Given the description of an element on the screen output the (x, y) to click on. 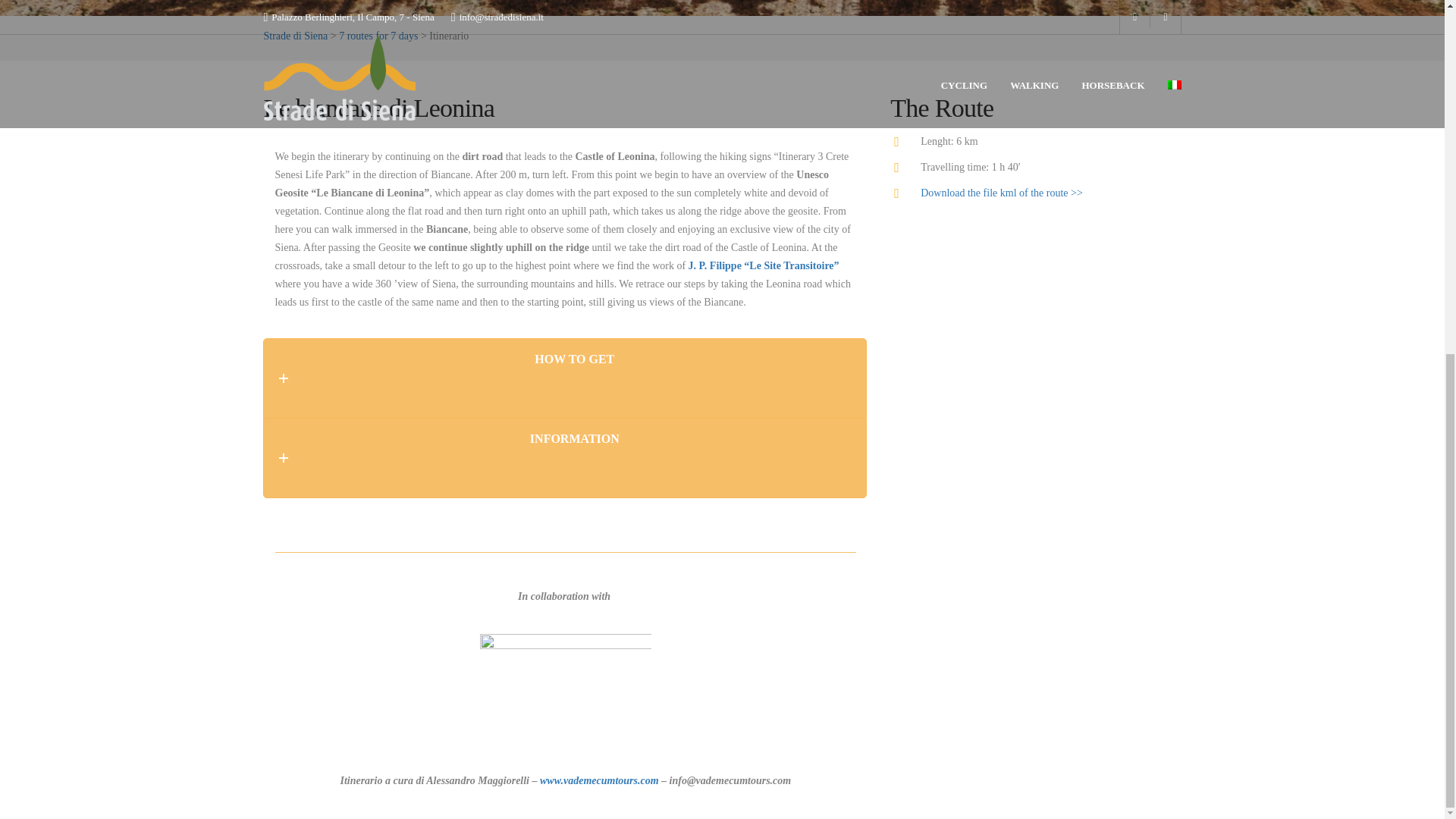
7 routes for 7 days (378, 35)
www.vademecumtours.com (599, 780)
Strade di Siena (296, 35)
INFORMATION (564, 457)
Strade di Siena (296, 35)
7 routes for 7 days (378, 35)
HOW TO GET (564, 378)
